Given the description of an element on the screen output the (x, y) to click on. 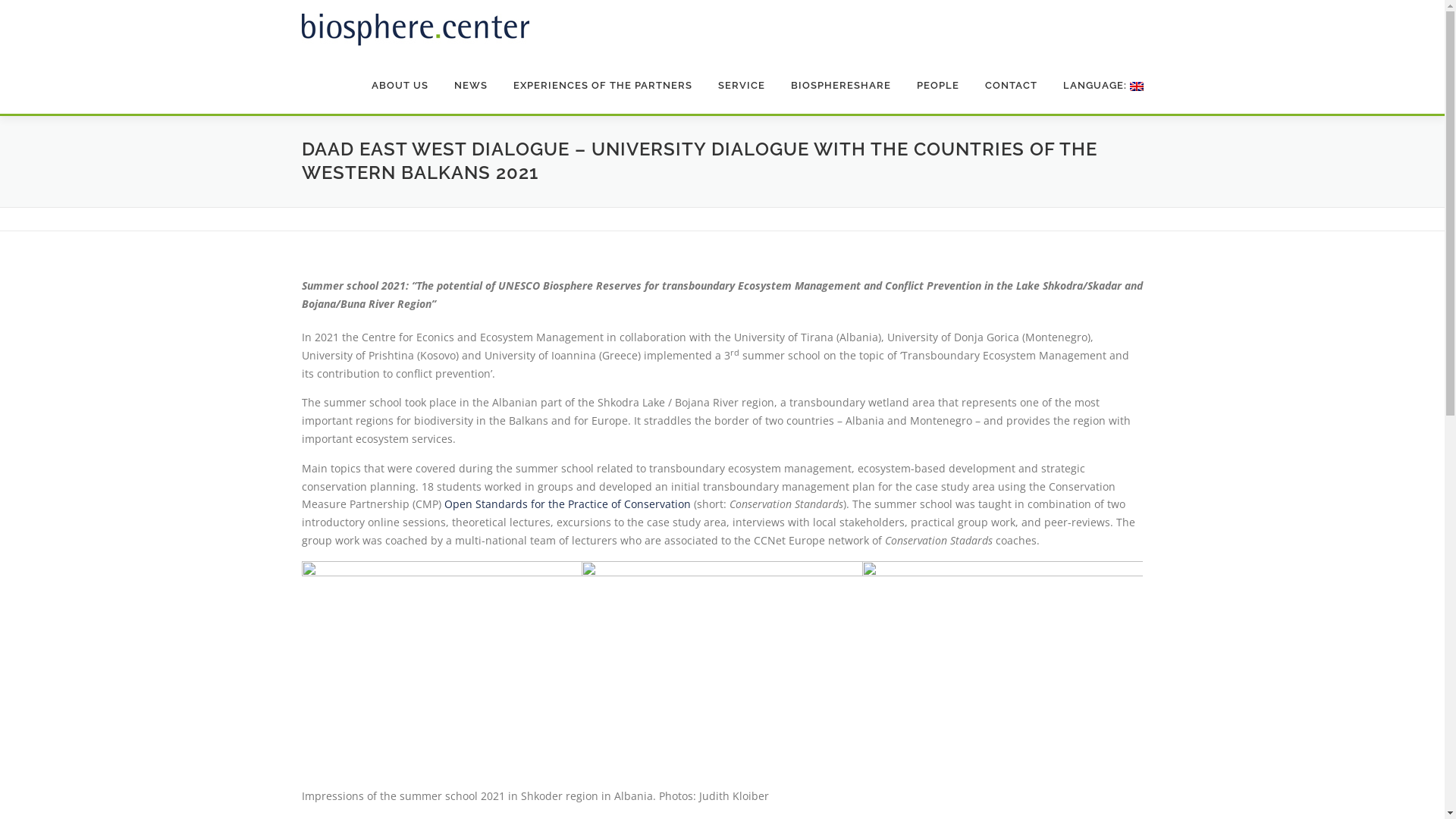
CONTACT Element type: text (1011, 84)
LANGUAGE:  Element type: text (1095, 84)
BIOSPHERESHARE Element type: text (840, 84)
EXPERIENCES OF THE PARTNERS Element type: text (602, 84)
PEOPLE Element type: text (937, 84)
Skip to content Element type: text (37, 9)
ABOUT US Element type: text (398, 84)
SERVICE Element type: text (741, 84)
NEWS Element type: text (470, 84)
Open Standards for the Practice of Conservation Element type: text (567, 503)
